Given the description of an element on the screen output the (x, y) to click on. 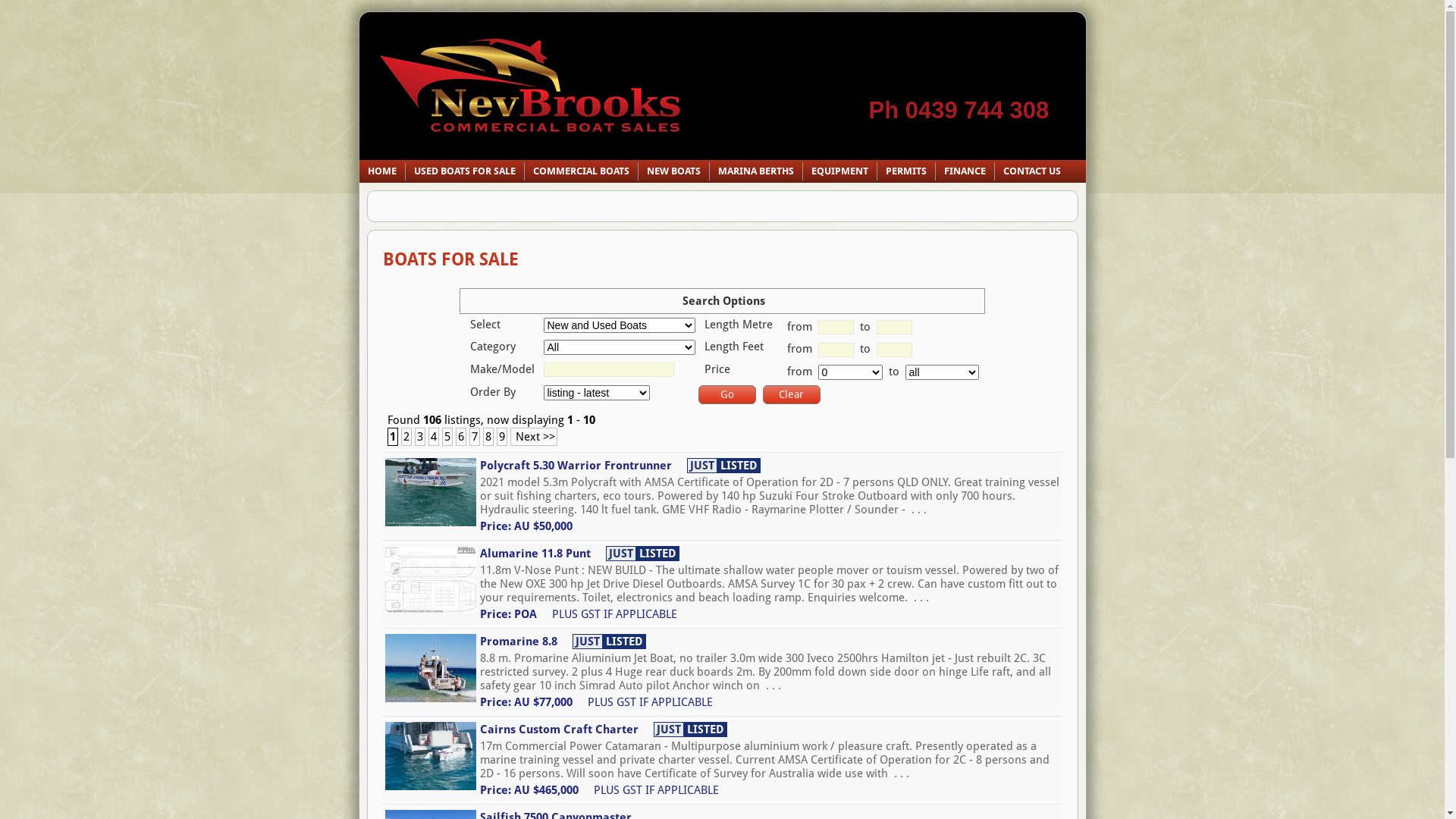
7 Element type: text (473, 436)
Go Element type: text (726, 394)
8 Element type: text (487, 436)
9 Element type: text (500, 436)
PERMITS Element type: text (905, 171)
HOME Element type: text (381, 171)
FINANCE Element type: text (964, 171)
USED BOATS FOR SALE Element type: text (463, 171)
BOATS FOR SALE Element type: text (449, 259)
5 Element type: text (446, 436)
4 Element type: text (432, 436)
MARINA BERTHS Element type: text (755, 171)
CONTACT US Element type: text (1031, 171)
Ph 0439 744 308 Element type: text (958, 110)
6 Element type: text (460, 436)
2 Element type: text (405, 436)
COMMERCIAL BOATS Element type: text (580, 171)
 Next >> Element type: text (532, 436)
3 Element type: text (419, 436)
Clear Element type: text (791, 394)
NEW BOATS Element type: text (673, 171)
EQUIPMENT Element type: text (838, 171)
